Given the description of an element on the screen output the (x, y) to click on. 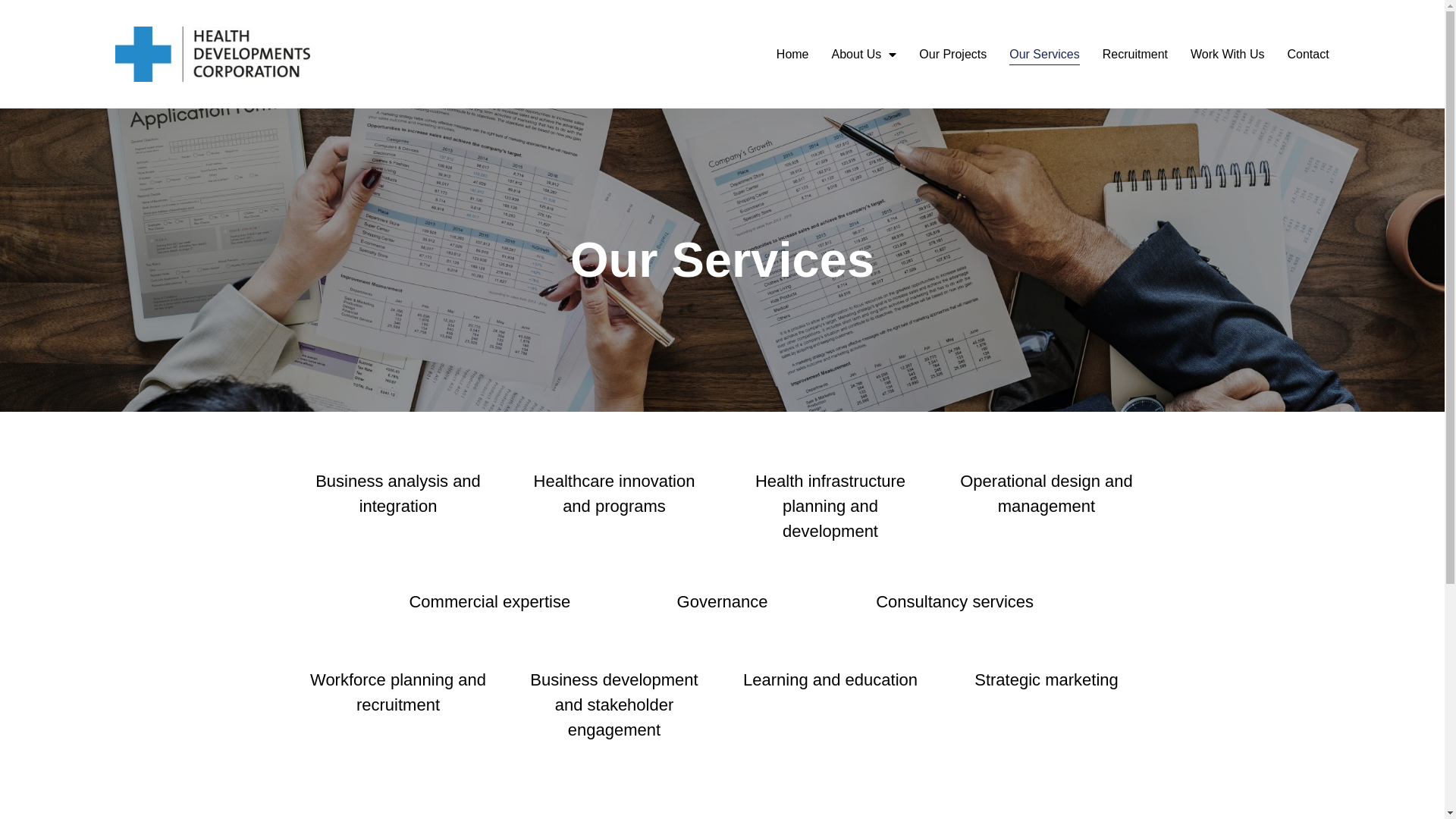
Home Element type: text (792, 54)
Recruitment Element type: text (1134, 54)
About Us Element type: text (864, 54)
Our Services Element type: text (1044, 54)
Our Projects Element type: text (952, 54)
Contact Element type: text (1307, 54)
Work With Us Element type: text (1227, 54)
